Given the description of an element on the screen output the (x, y) to click on. 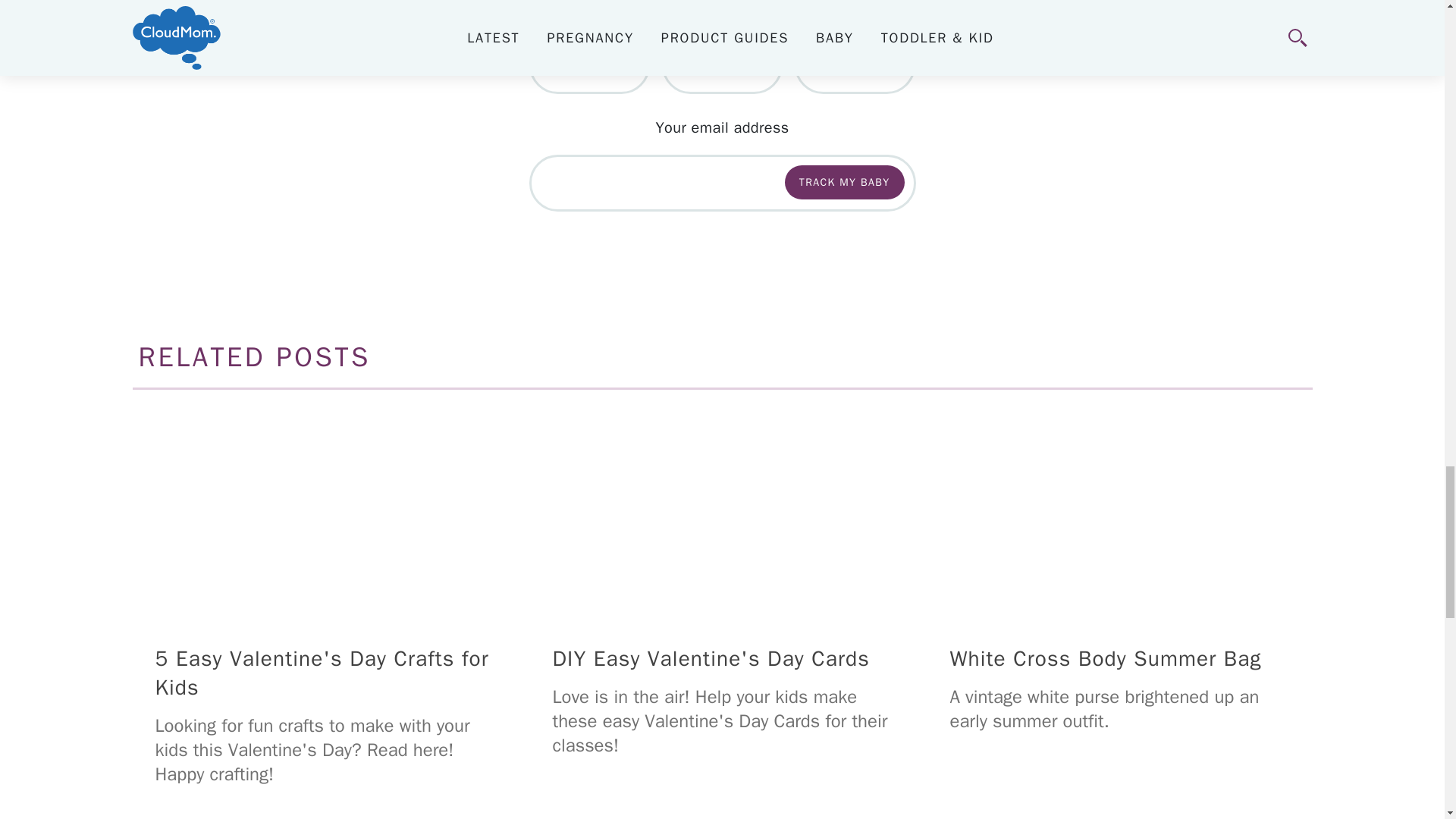
DIY Easy Valentine's Day Cards (721, 512)
Track My Baby (844, 182)
5 Easy Valentine's Day Crafts for Kids (324, 512)
White Cross Body Summer Bag (1118, 512)
